Given the description of an element on the screen output the (x, y) to click on. 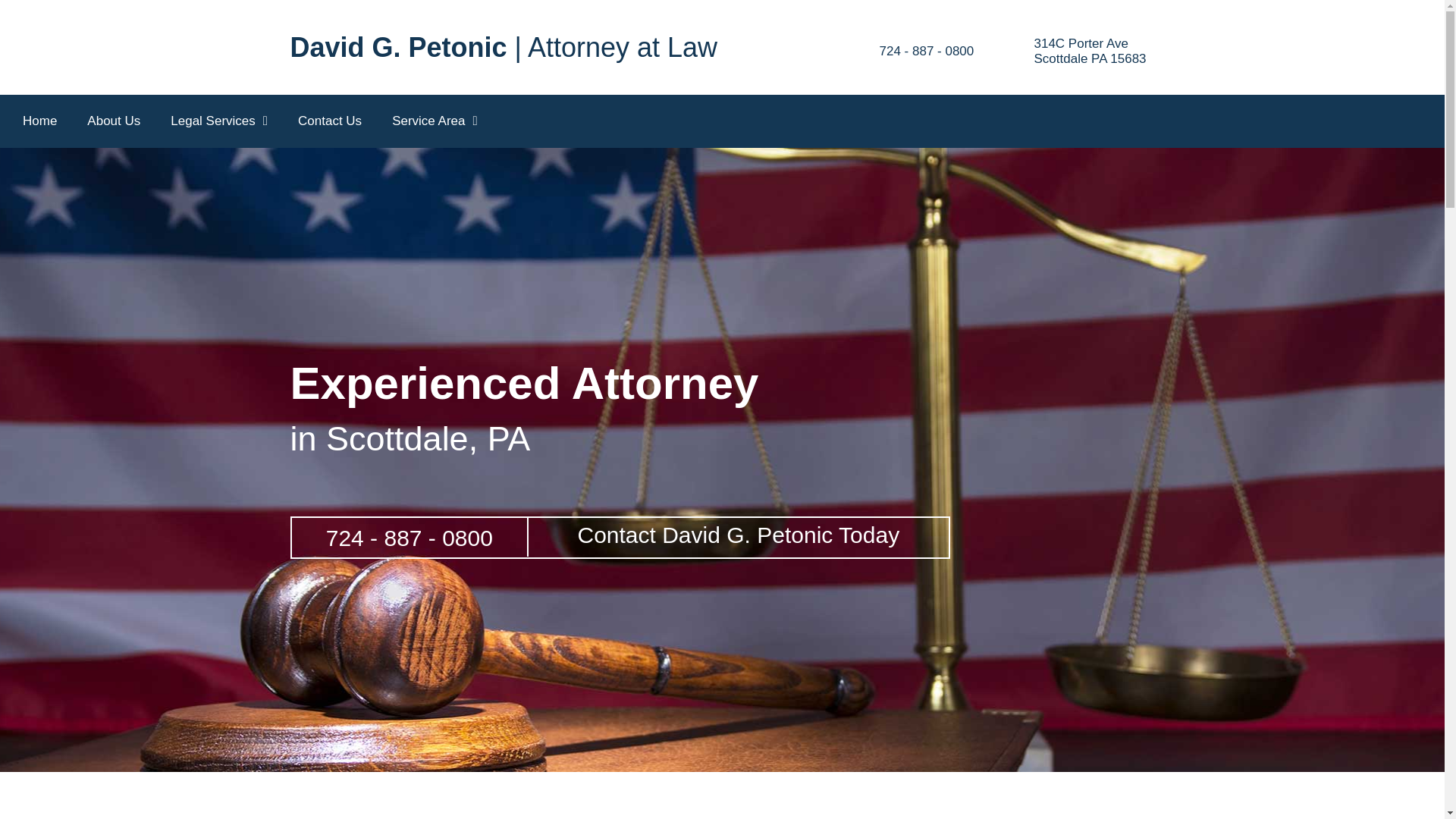
About Us (113, 121)
Legal Services (218, 121)
724 - 887 - 0800 (926, 51)
Home (39, 121)
Service Area (435, 121)
Contact Us (329, 121)
